Given the description of an element on the screen output the (x, y) to click on. 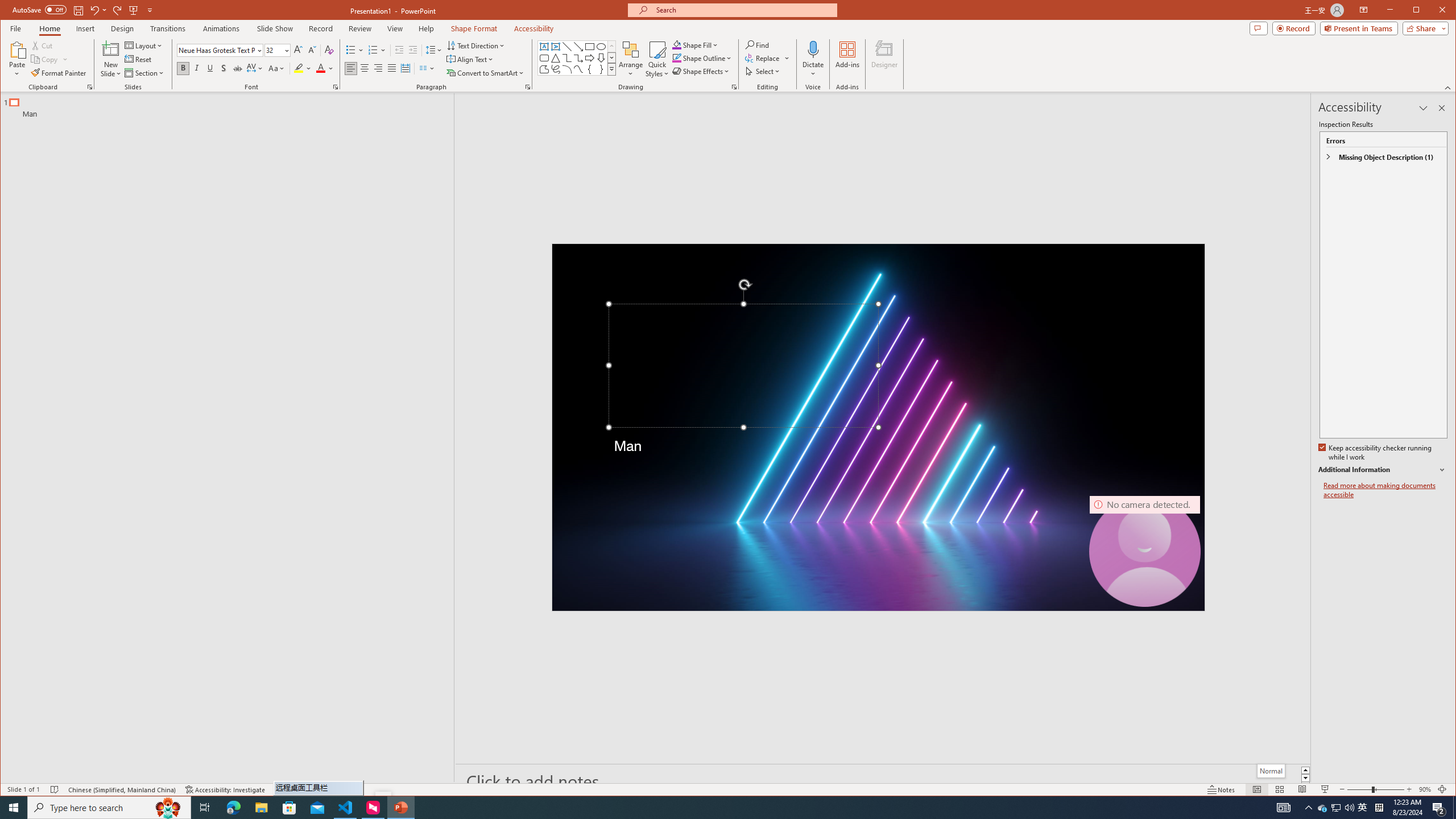
Font Color (1322, 807)
PowerPoint - 1 running window (324, 68)
Arrange (400, 807)
Q2790: 100% (631, 59)
Line (1349, 807)
Quick Styles (567, 46)
Increase Indent (1362, 807)
